Given the description of an element on the screen output the (x, y) to click on. 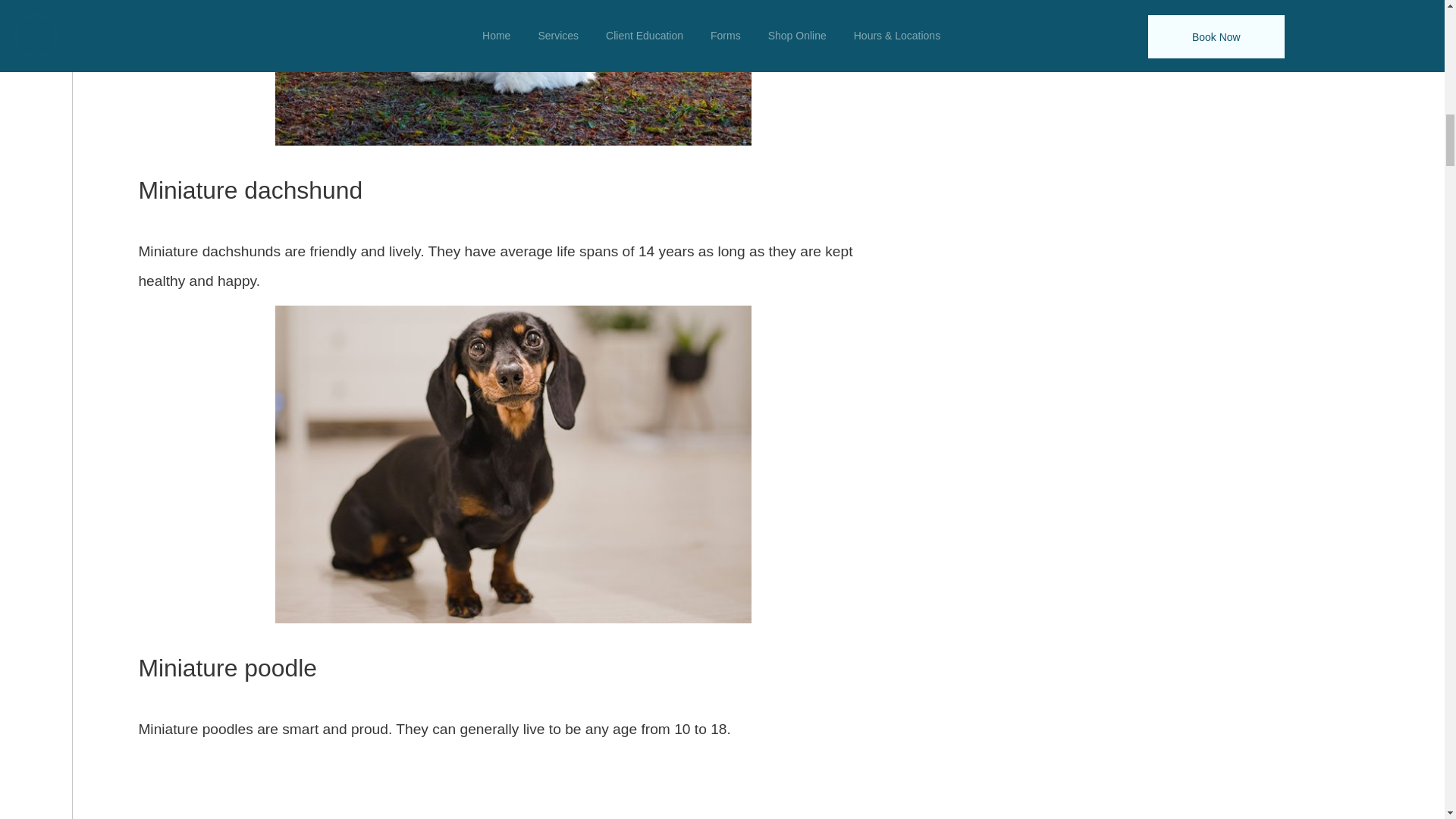
The 25 Dog Breeds With Longest Life Spans 3 (512, 74)
The 25 Dog Breeds With Longest Life Spans 5 (512, 784)
